Given the description of an element on the screen output the (x, y) to click on. 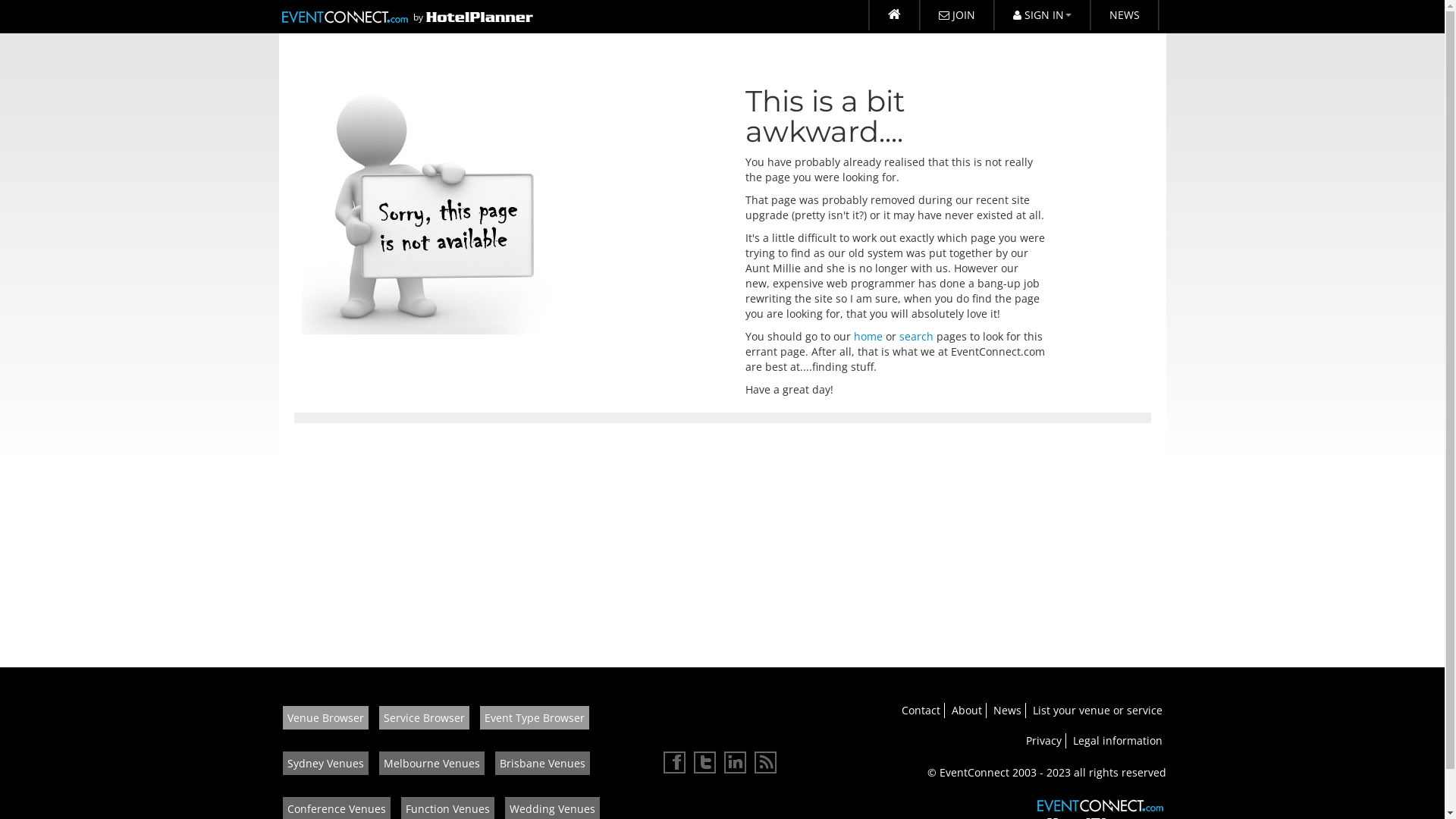
facebook Element type: text (673, 761)
Service Browser Element type: text (424, 717)
Melbourne Venues Element type: text (431, 763)
Legal information Element type: text (1116, 740)
SIGN IN Element type: text (1041, 15)
About Element type: text (965, 709)
search Element type: text (916, 336)
Contact Element type: text (919, 709)
Privacy Element type: text (1042, 740)
JOIN Element type: text (955, 15)
rss Element type: text (764, 761)
Venue Browser Element type: text (324, 717)
List your venue or service Element type: text (1097, 709)
Brisbane Venues Element type: text (541, 763)
home Element type: text (867, 336)
linkedin Element type: text (734, 761)
Event Type Browser Element type: text (533, 717)
NEWS Element type: text (1124, 15)
Sydney Venues Element type: text (324, 763)
twitter Element type: text (704, 761)
News Element type: text (1007, 709)
